Given the description of an element on the screen output the (x, y) to click on. 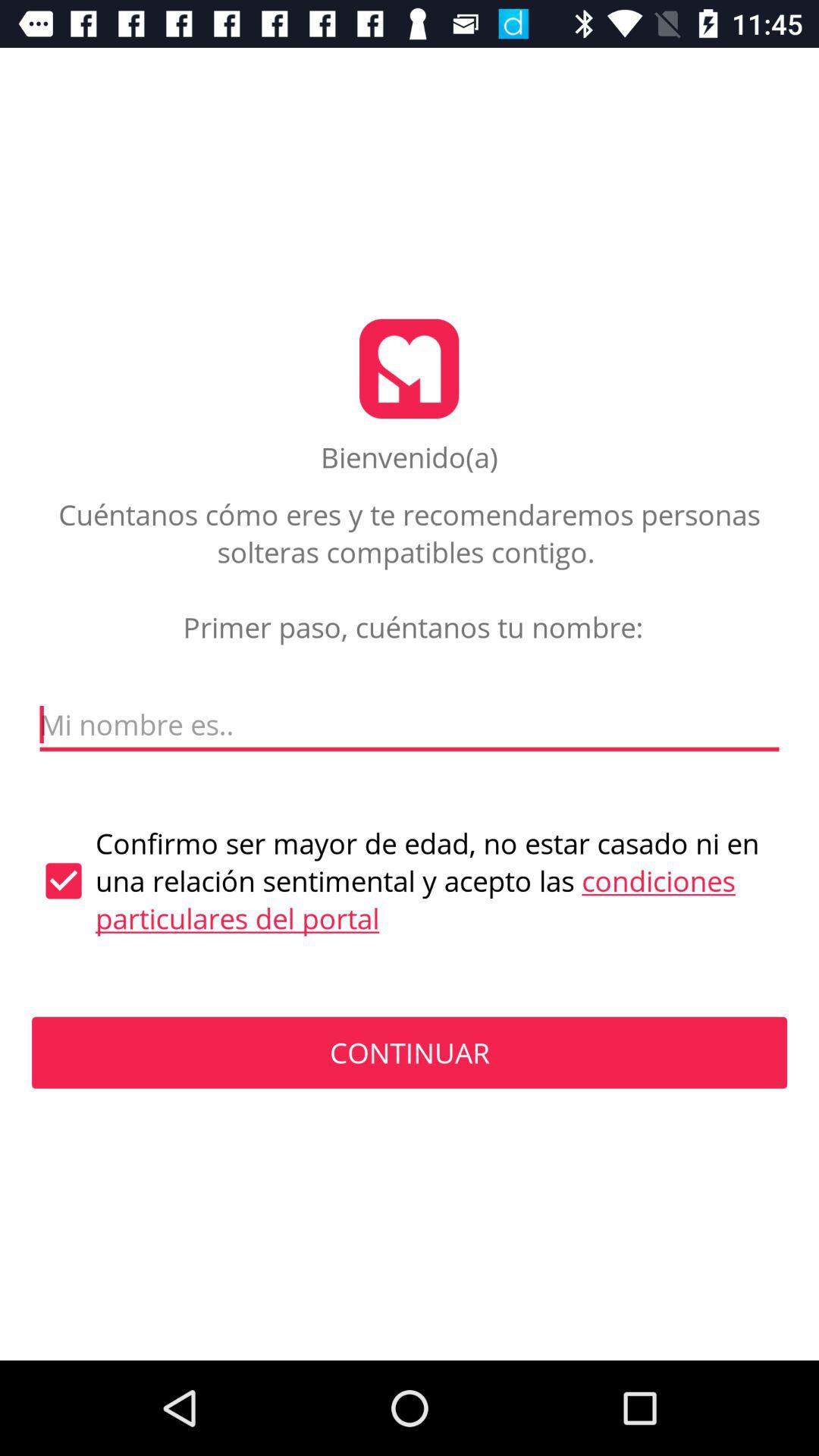
turn off the confirmo ser mayor item (409, 880)
